Given the description of an element on the screen output the (x, y) to click on. 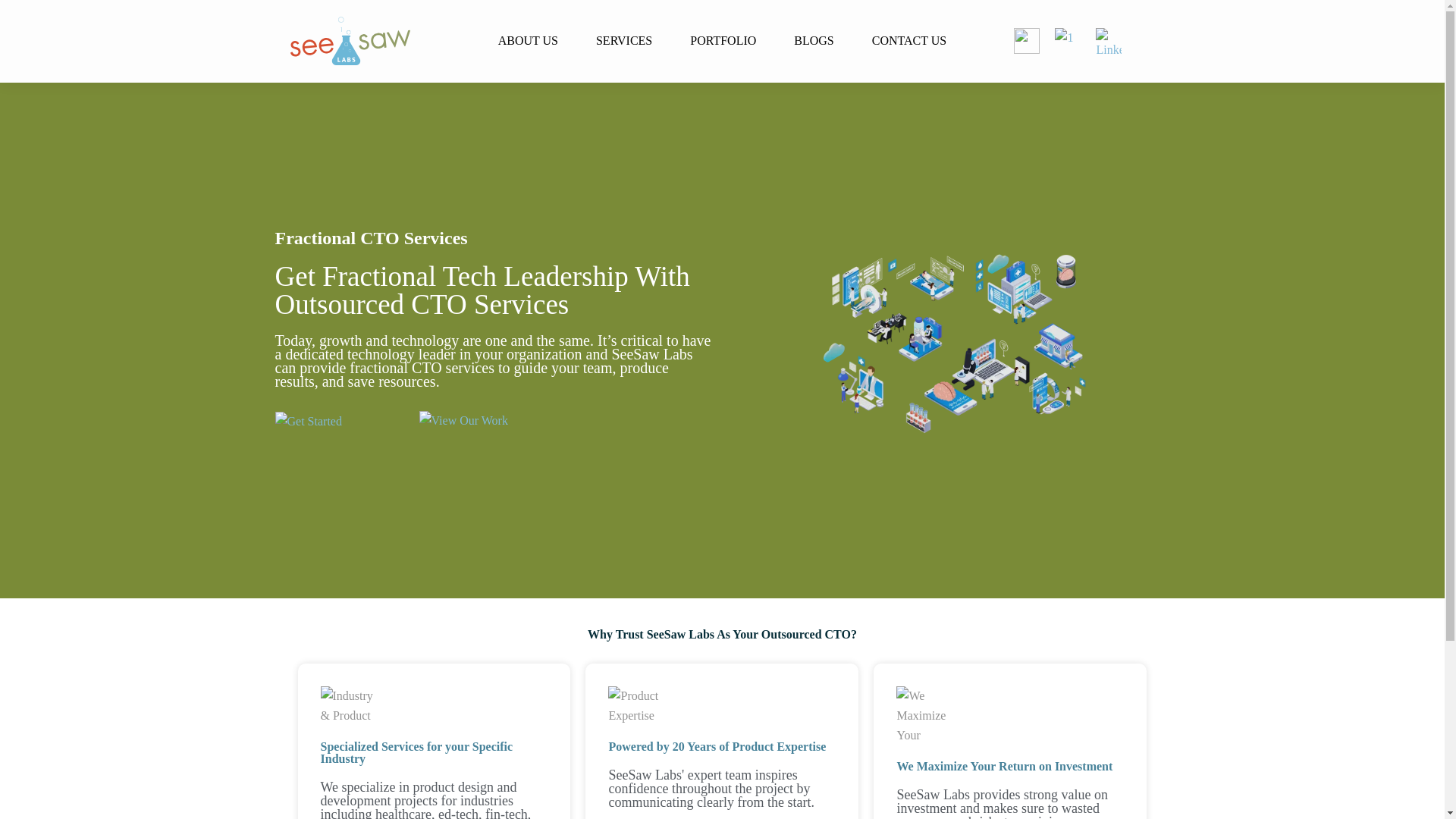
Product Expertise (638, 705)
PORTFOLIO (722, 40)
We Maximize Your (926, 715)
CONTACT US (909, 40)
